Given the description of an element on the screen output the (x, y) to click on. 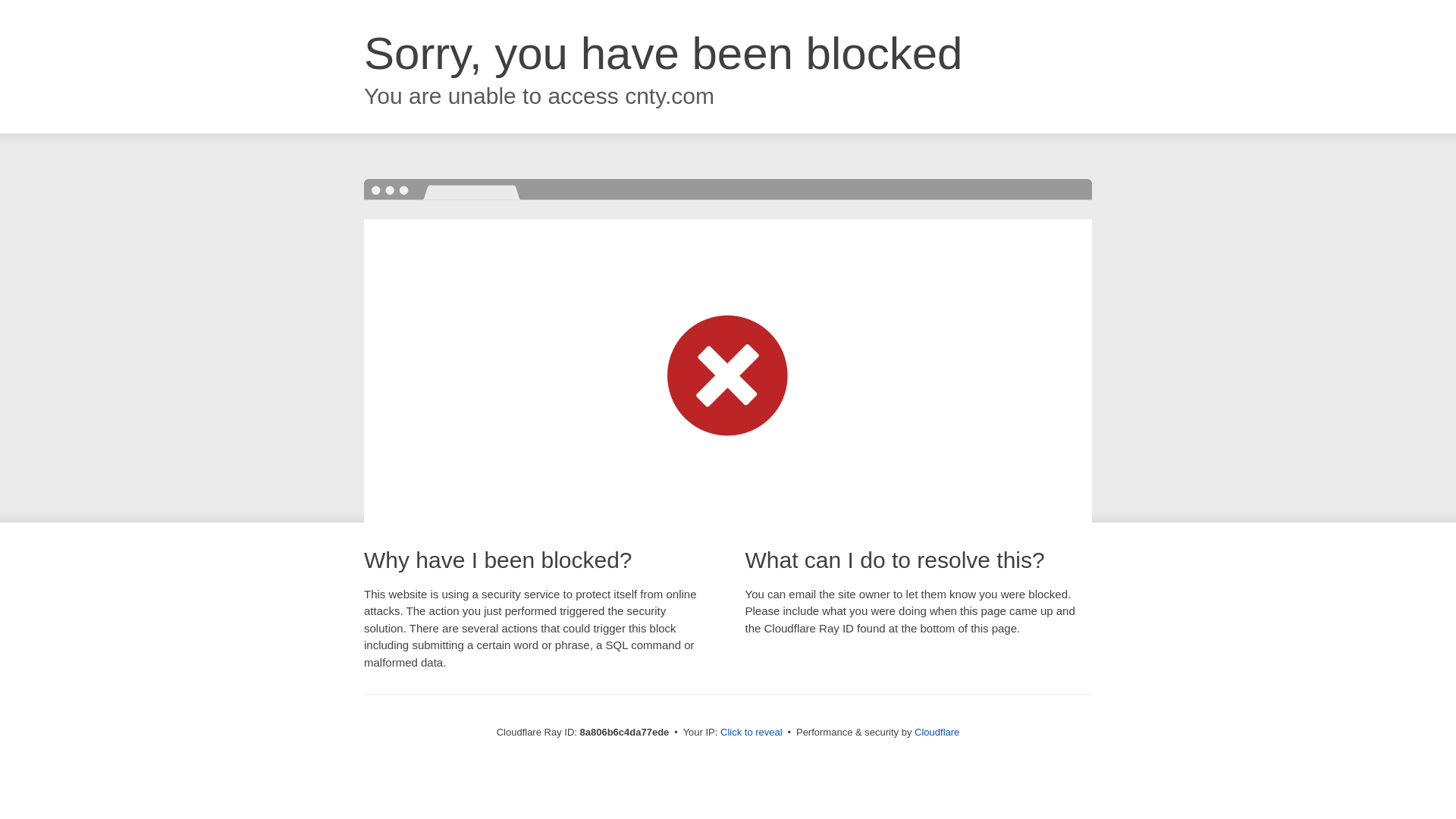
Cloudflare (936, 731)
Click to reveal (751, 732)
